Given the description of an element on the screen output the (x, y) to click on. 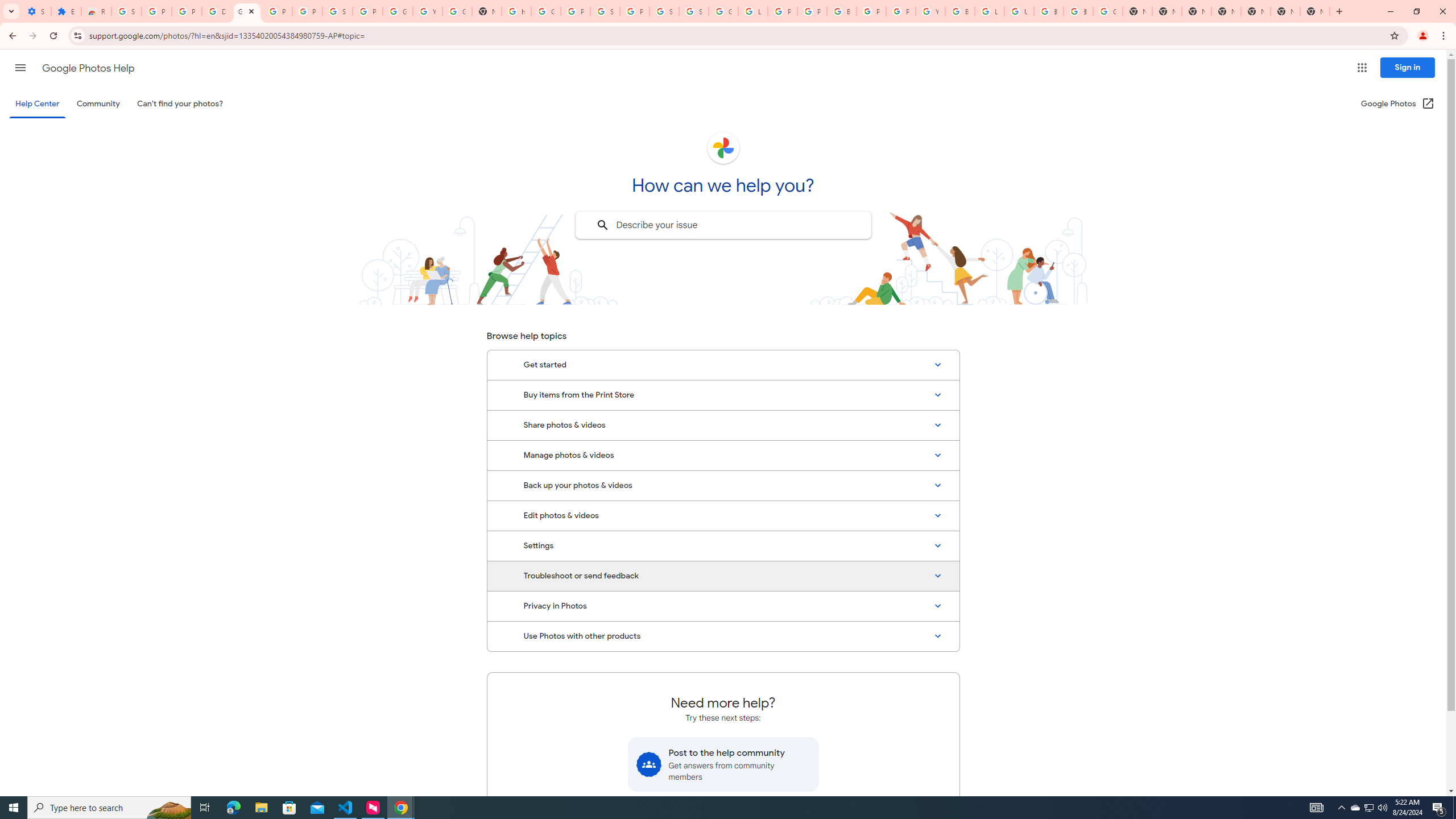
Sign in - Google Accounts (693, 11)
Delete photos & videos - Computer - Google Photos Help (216, 11)
Troubleshoot or send feedback (722, 576)
Google Images (1107, 11)
Sign in - Google Accounts (126, 11)
Edit photos & videos (722, 515)
